Given the description of an element on the screen output the (x, y) to click on. 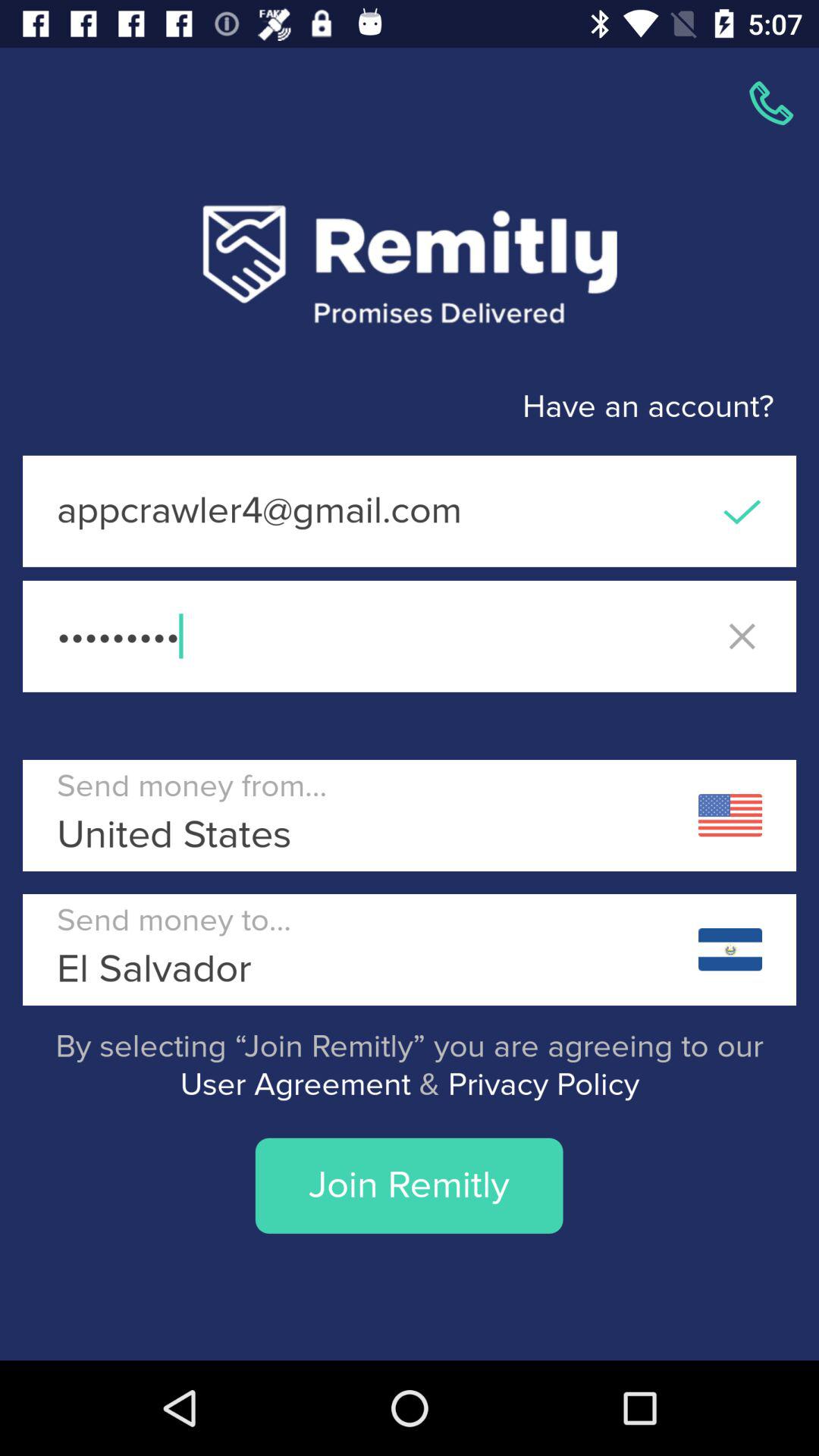
launch the icon above appcrawler4@gmail.com (387, 406)
